Given the description of an element on the screen output the (x, y) to click on. 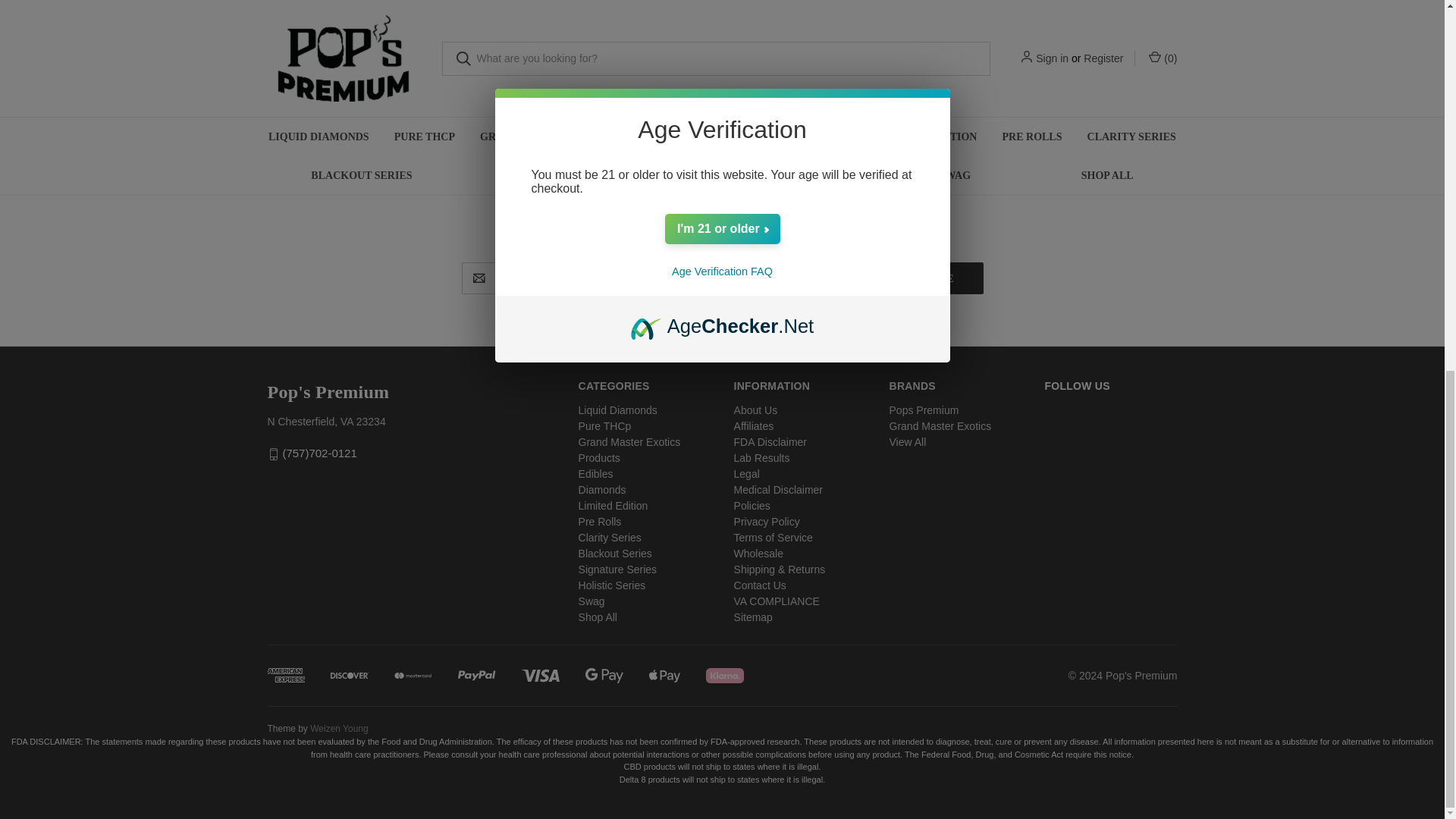
QUICK VIEW (550, 11)
QUICK VIEW (319, 11)
Subscribe (920, 278)
